Given the description of an element on the screen output the (x, y) to click on. 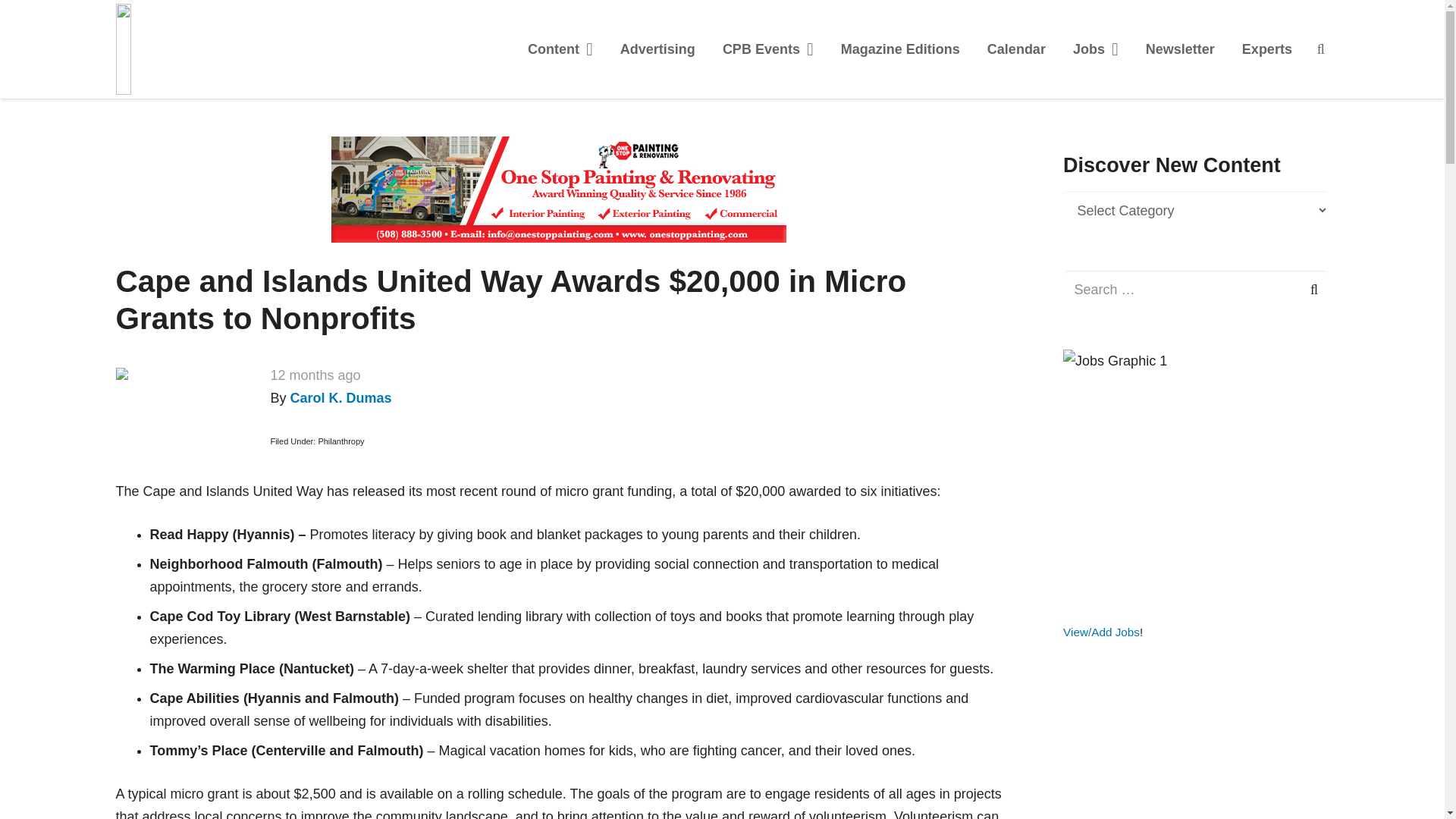
Experts (1267, 48)
Newsletter (1180, 48)
Magazine Editions (900, 48)
Content (560, 48)
Jobs (1095, 48)
Advertising (658, 48)
CPB Events (768, 48)
Calendar (1016, 48)
